Given the description of an element on the screen output the (x, y) to click on. 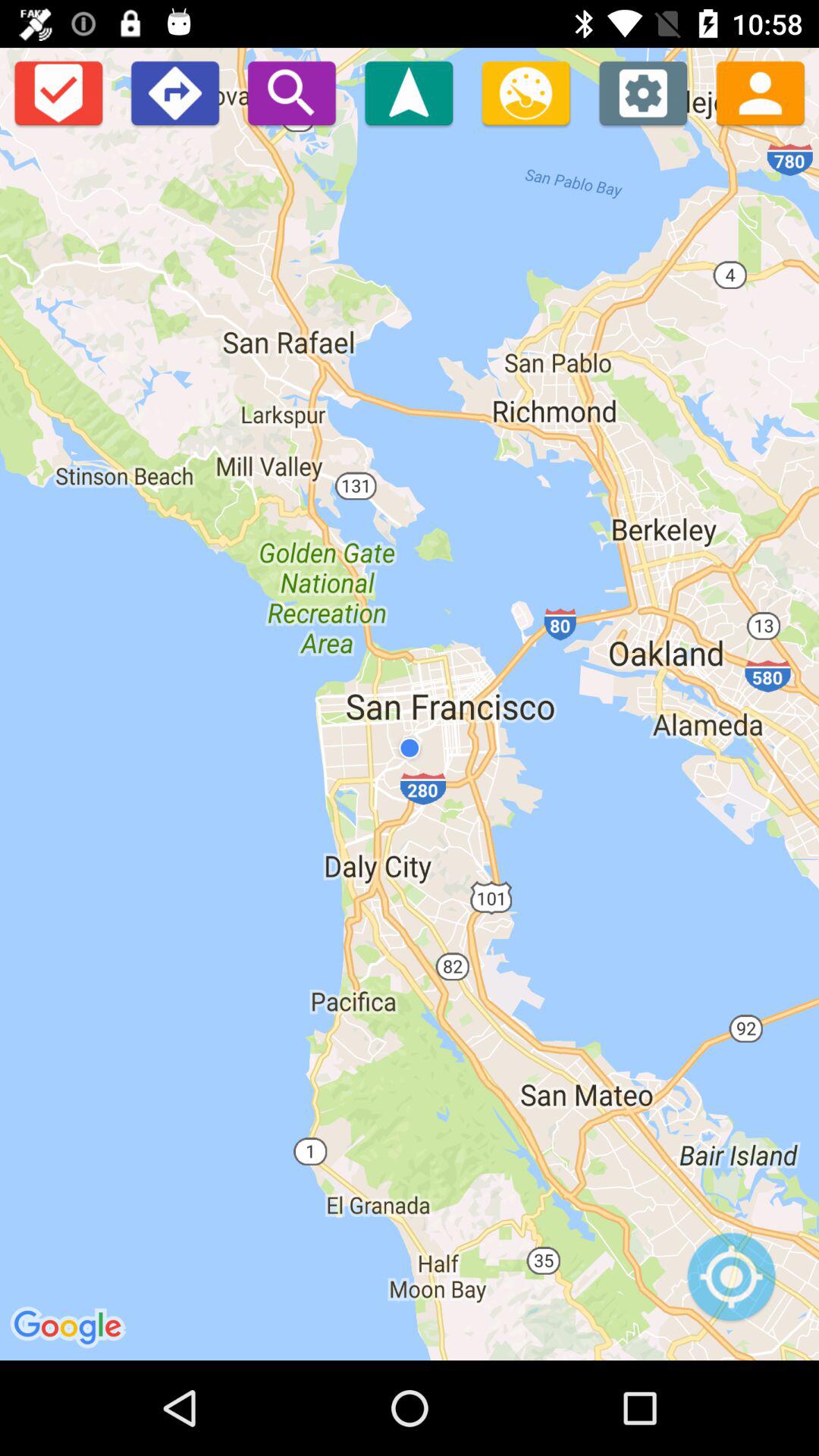
go to (408, 92)
